Given the description of an element on the screen output the (x, y) to click on. 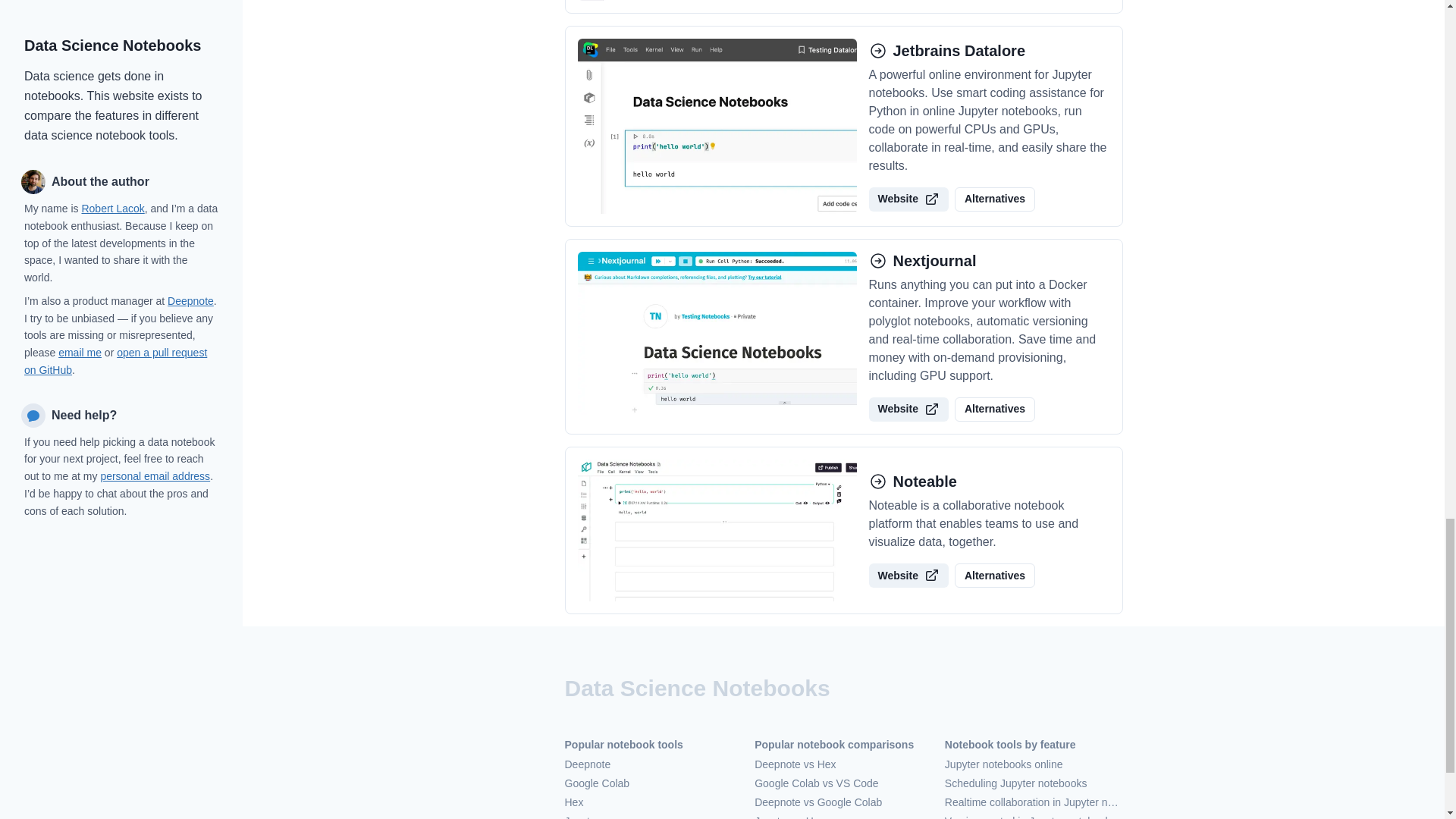
Website (909, 575)
Alternatives (995, 198)
Noteable (989, 481)
Jupyter (653, 816)
Google Colab (653, 783)
Alternatives (995, 575)
Website (909, 198)
Deepnote (653, 764)
Jetbrains Datalore (989, 49)
Alternatives (995, 409)
Nextjournal (989, 260)
Hex (653, 802)
Website (909, 409)
